Given the description of an element on the screen output the (x, y) to click on. 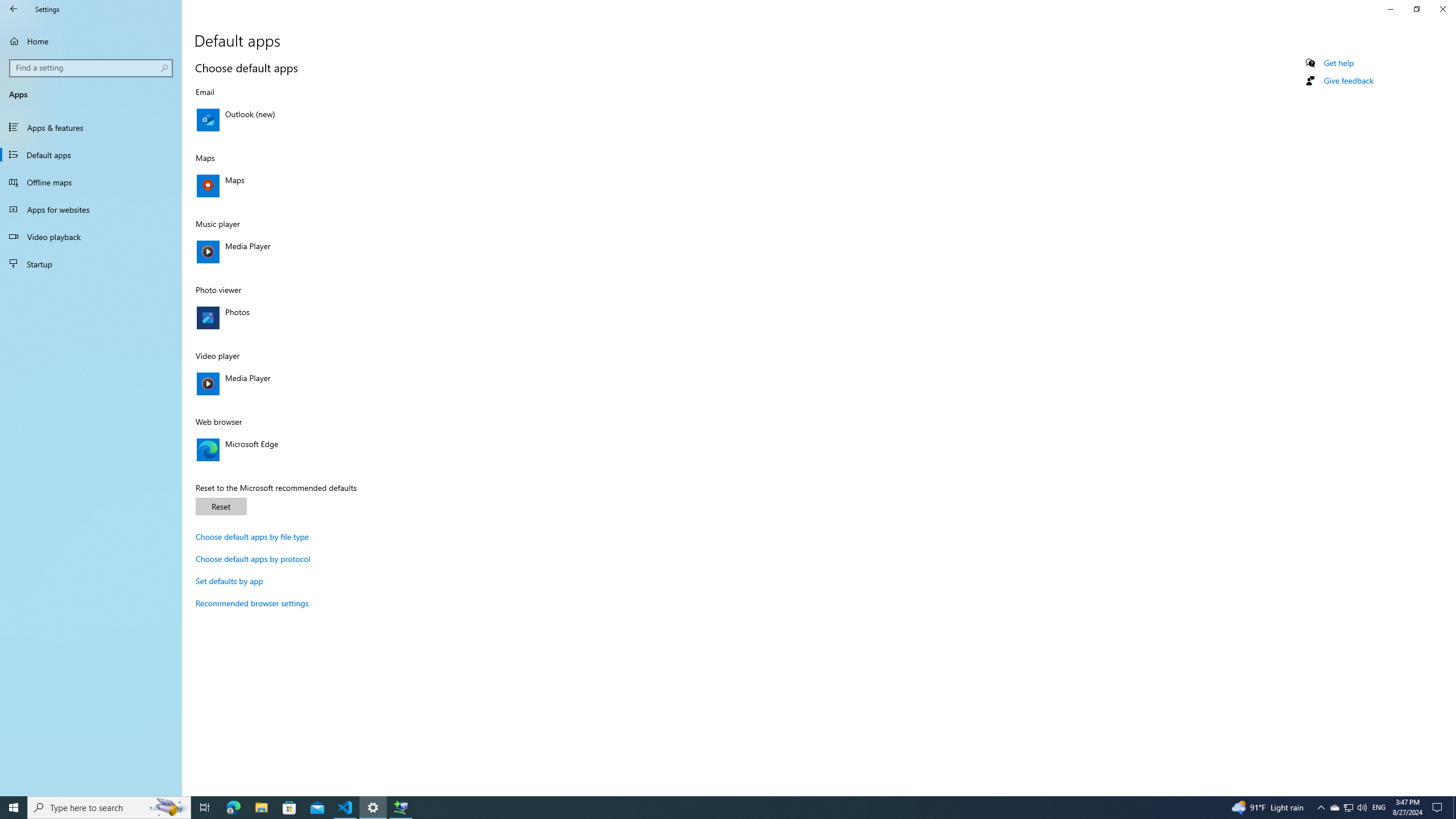
Give feedback (1348, 80)
